Given the description of an element on the screen output the (x, y) to click on. 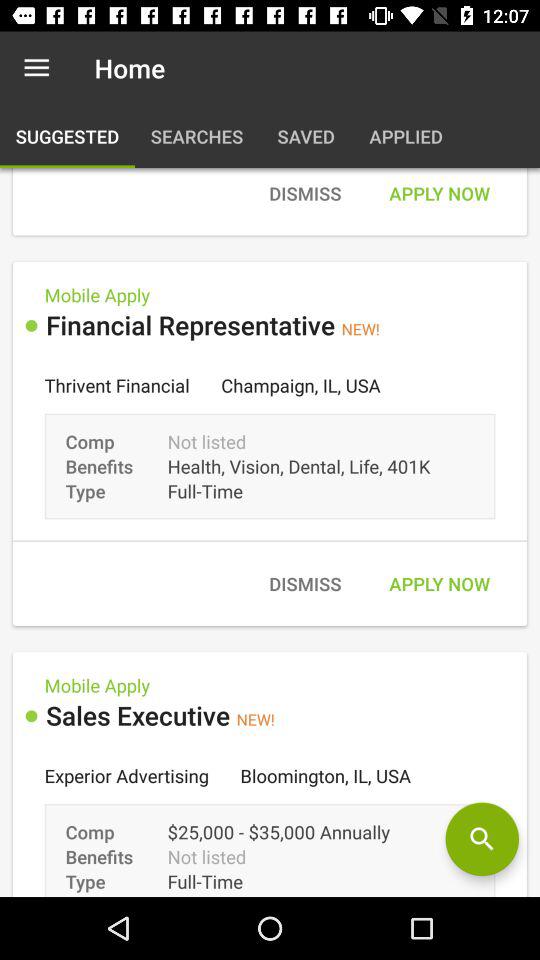
turn on the icon to the right of the comp icon (482, 839)
